Given the description of an element on the screen output the (x, y) to click on. 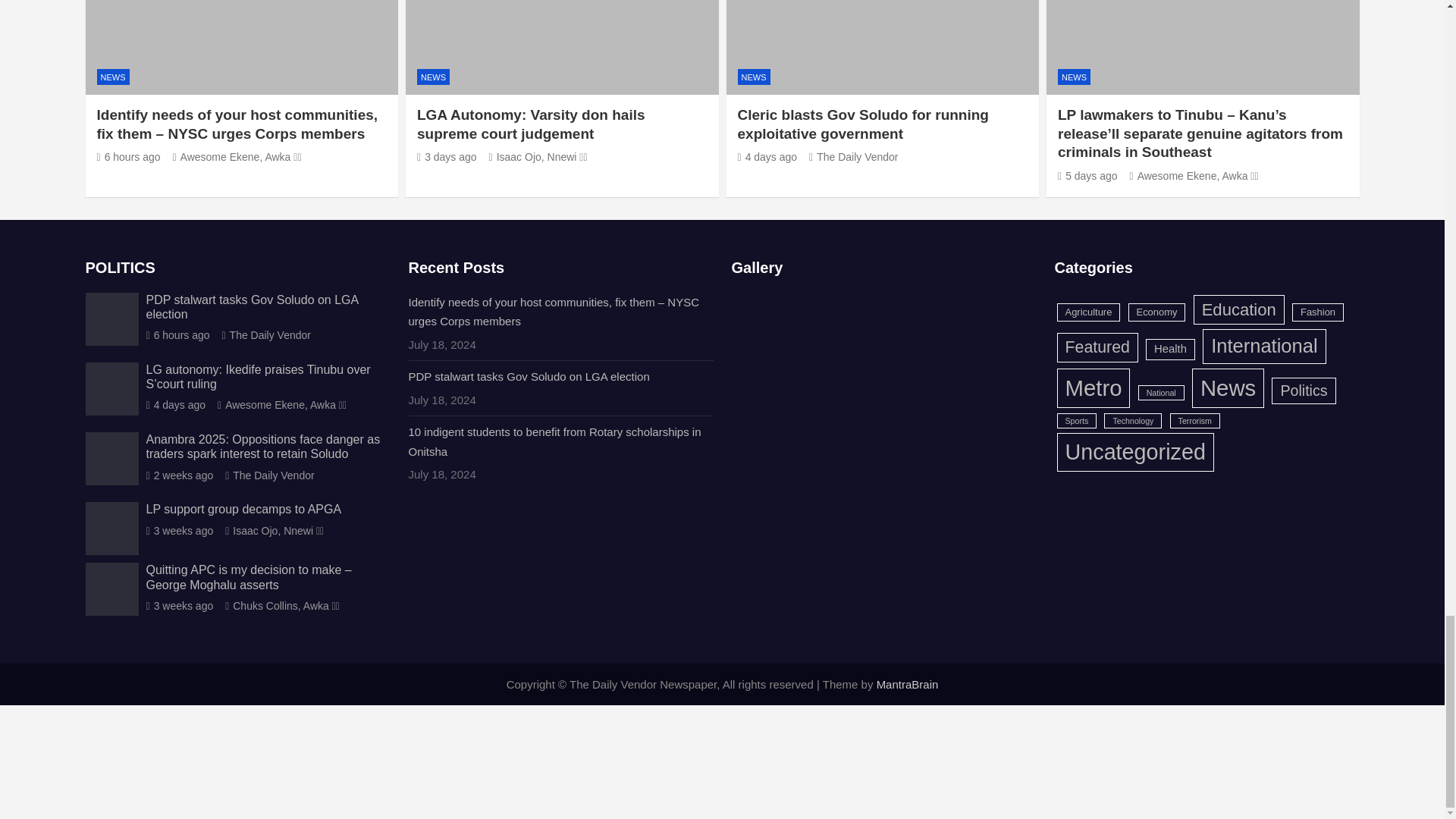
LGA Autonomy: Varsity don hails supreme court judgement (446, 156)
Cleric blasts Gov Soludo for running exploitative government (766, 156)
